Given the description of an element on the screen output the (x, y) to click on. 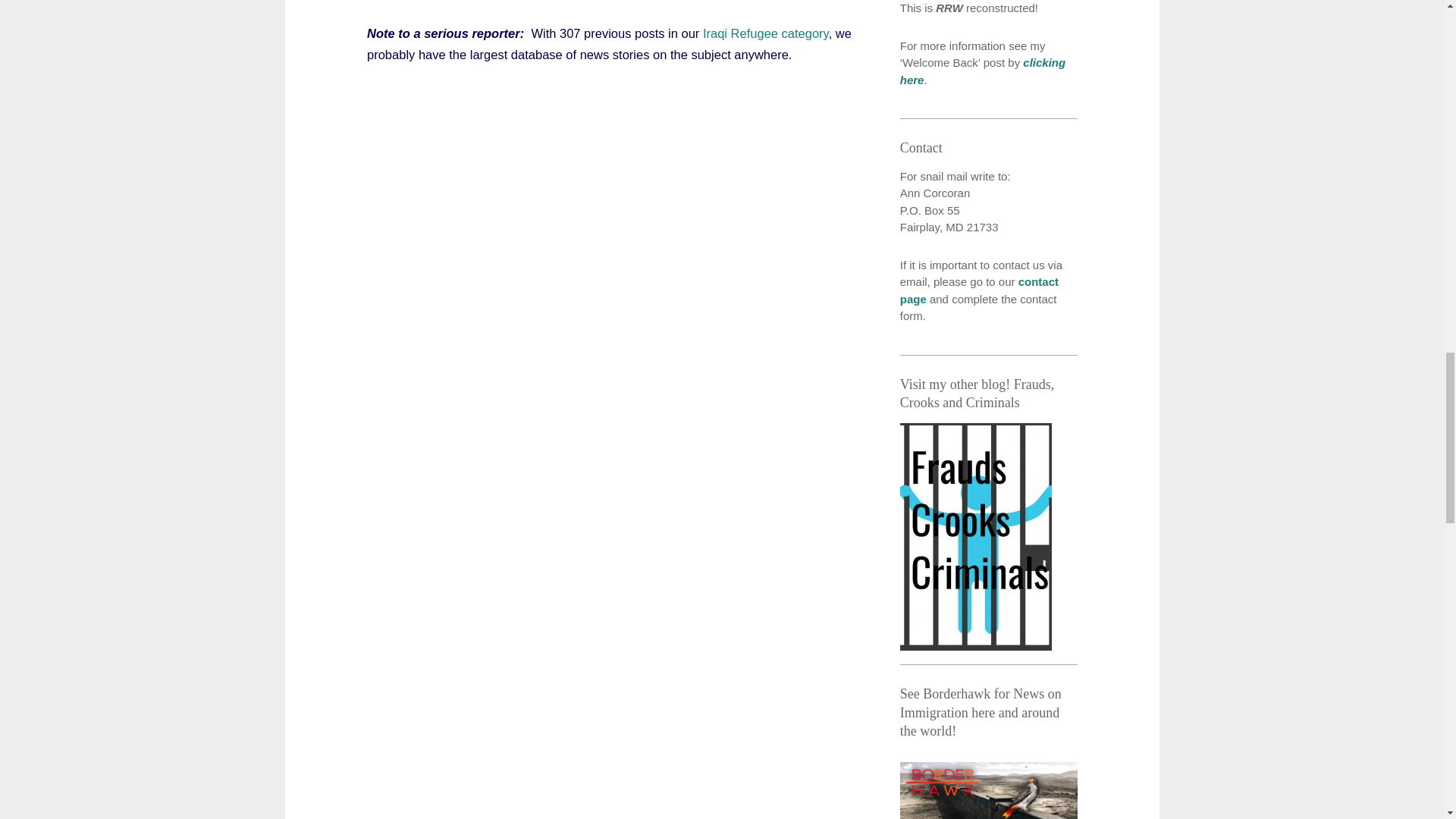
Iraqi Refugee category (765, 33)
